Given the description of an element on the screen output the (x, y) to click on. 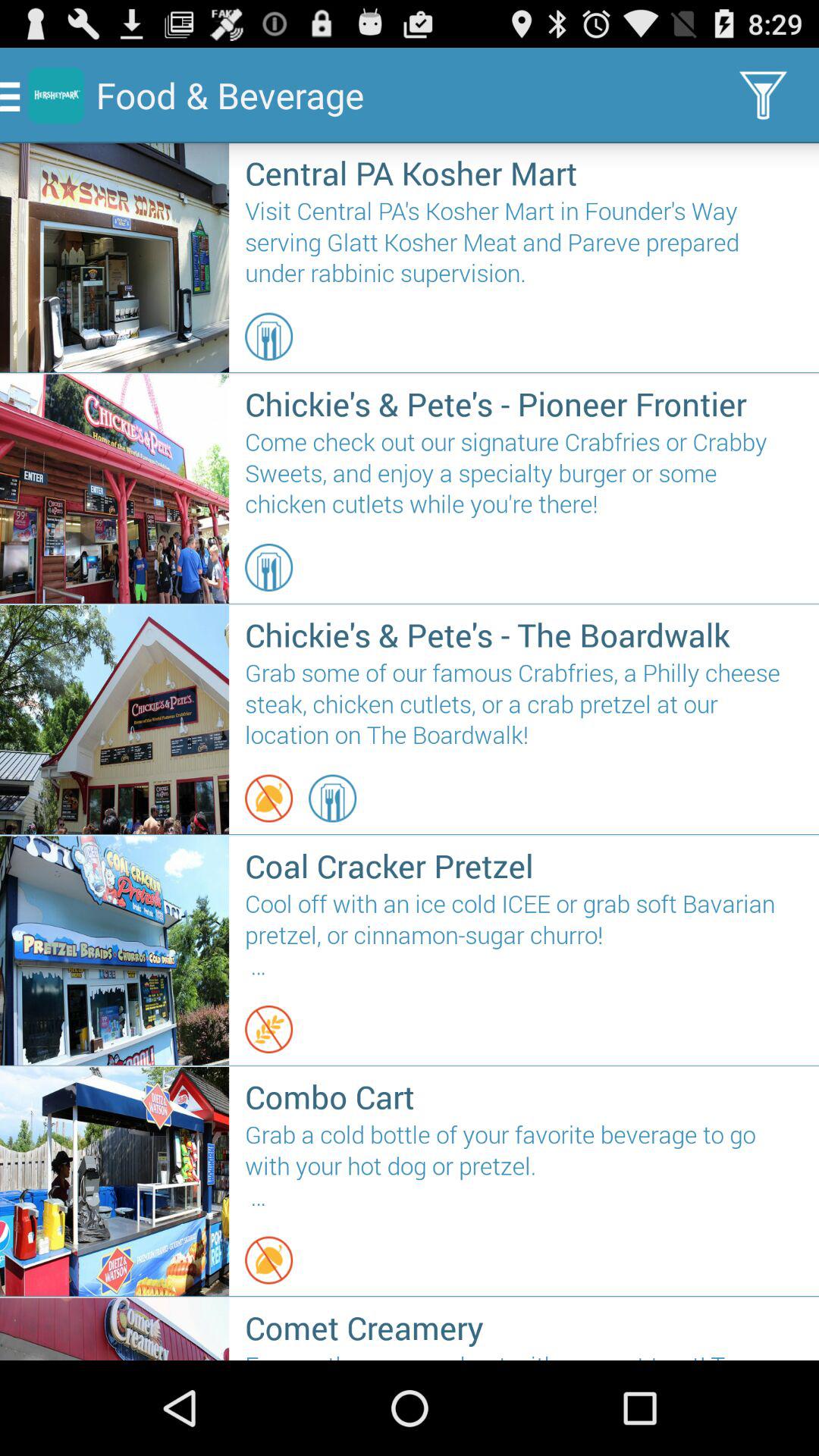
press the icon above cool off with icon (524, 865)
